Given the description of an element on the screen output the (x, y) to click on. 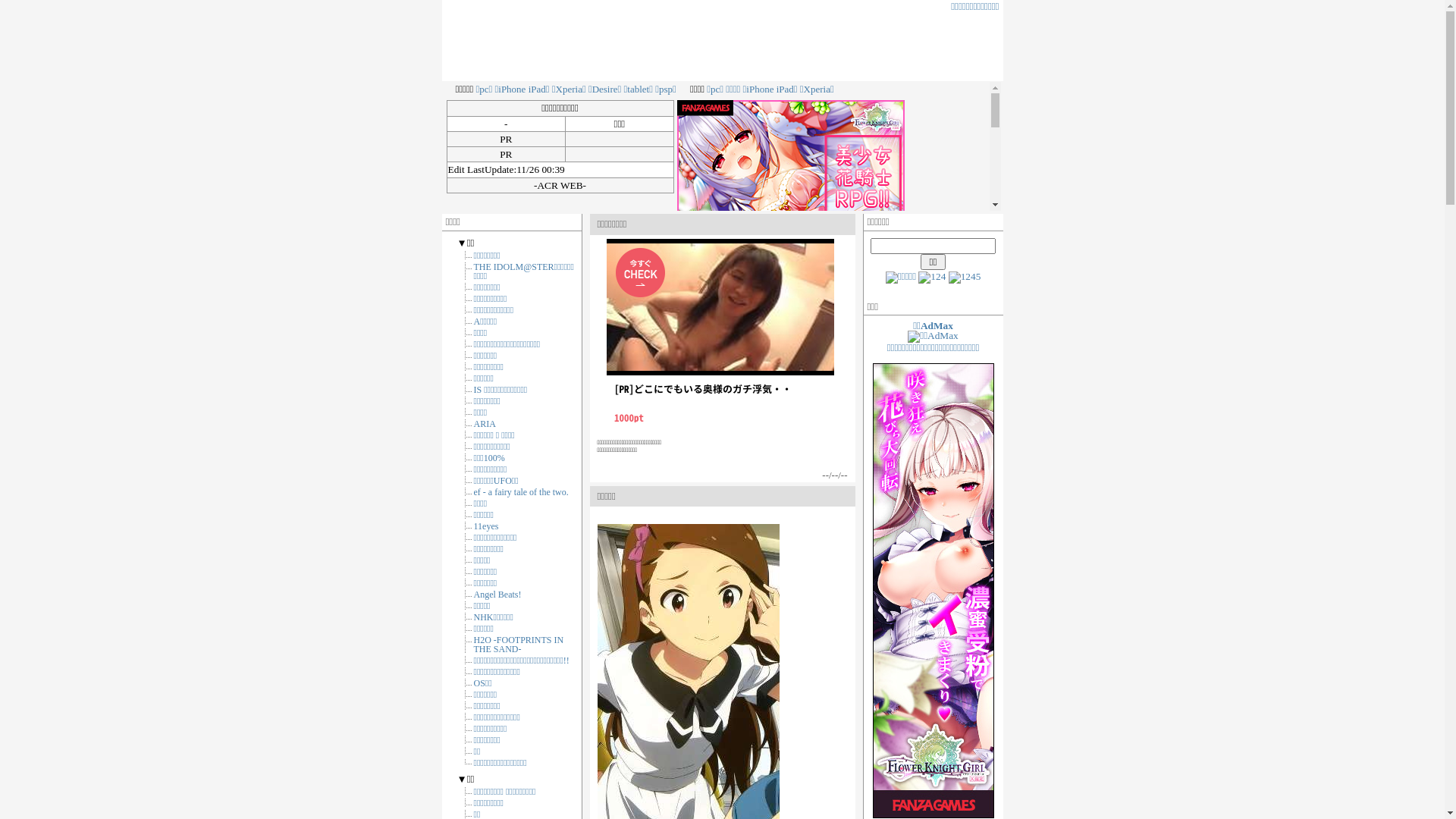
ACR WEB Element type: text (559, 185)
Twitter Element type: hover (931, 277)
ef - a fairy tale of the two. Element type: text (520, 491)
H2O -FOOTPRINTS IN THE SAND- Element type: text (518, 644)
RSS Element type: hover (964, 277)
Edit Element type: text (455, 169)
Angel Beats! Element type: text (496, 594)
11eyes Element type: text (485, 525)
ARIA Element type: text (484, 423)
